Given the description of an element on the screen output the (x, y) to click on. 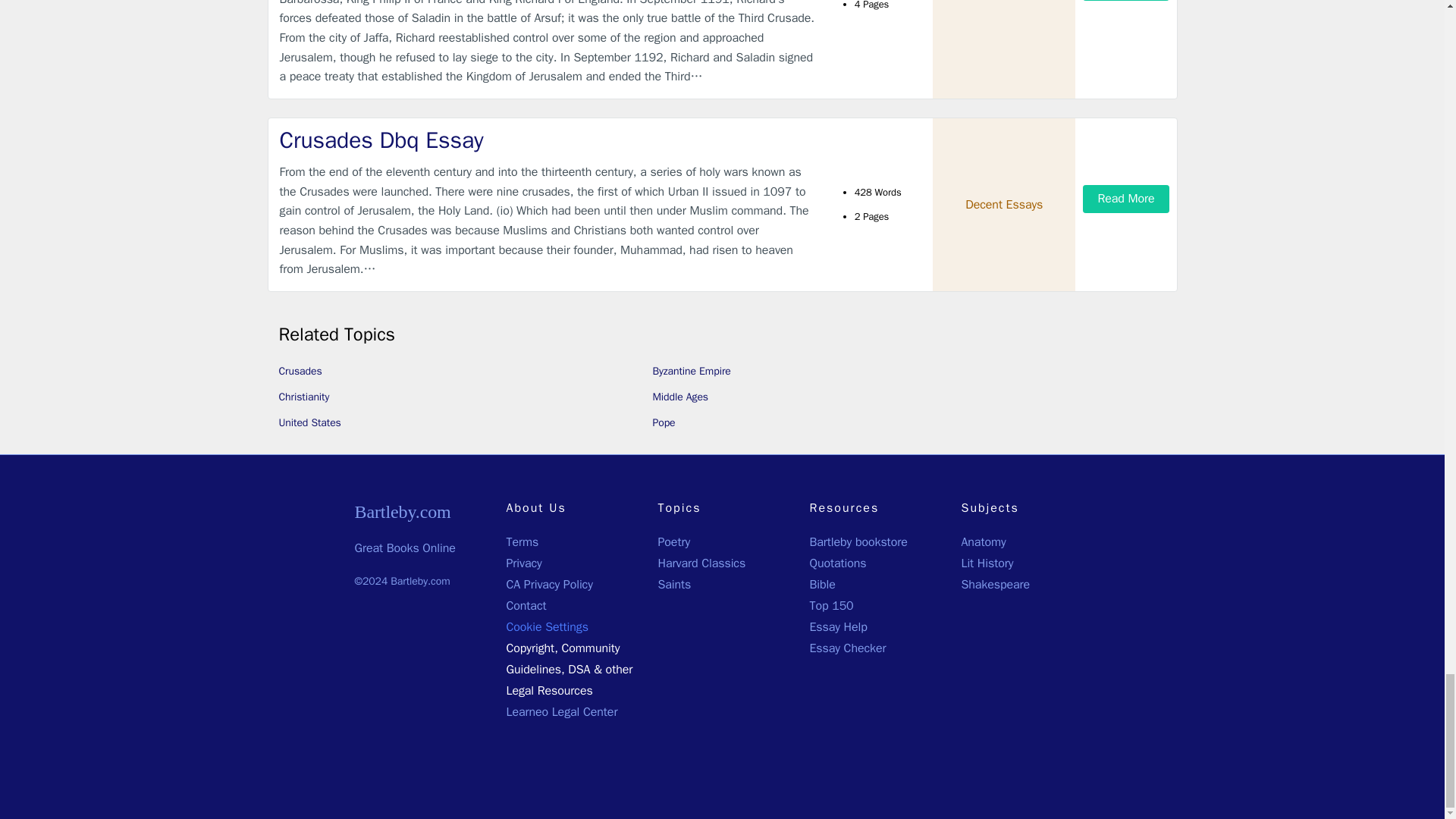
Pope (663, 422)
Middle Ages (679, 396)
Christianity (304, 396)
United States (309, 422)
Byzantine Empire (691, 370)
Crusades (300, 370)
